Given the description of an element on the screen output the (x, y) to click on. 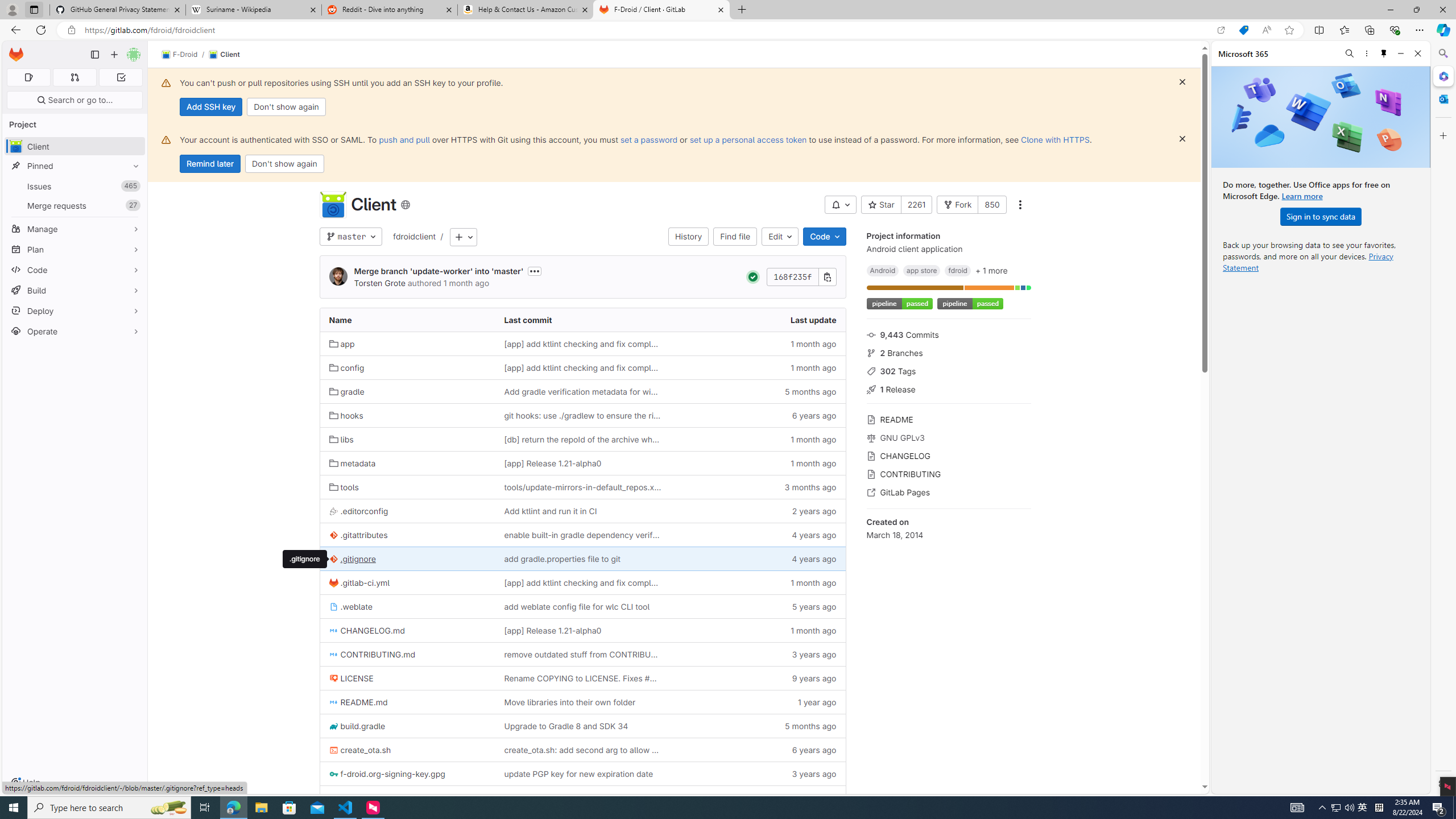
Clone with HTTPS (1054, 139)
.gitignore (407, 558)
Issues 465 (74, 185)
Last commit (583, 319)
push and pull (403, 139)
4 years ago (757, 558)
Sign in to sync data (1320, 216)
[app] Release 1.21-alpha0 (552, 630)
Class: tree-item (582, 797)
Class: s16 position-relative file-icon (333, 798)
.gitignore (305, 558)
Client (224, 54)
